Given the description of an element on the screen output the (x, y) to click on. 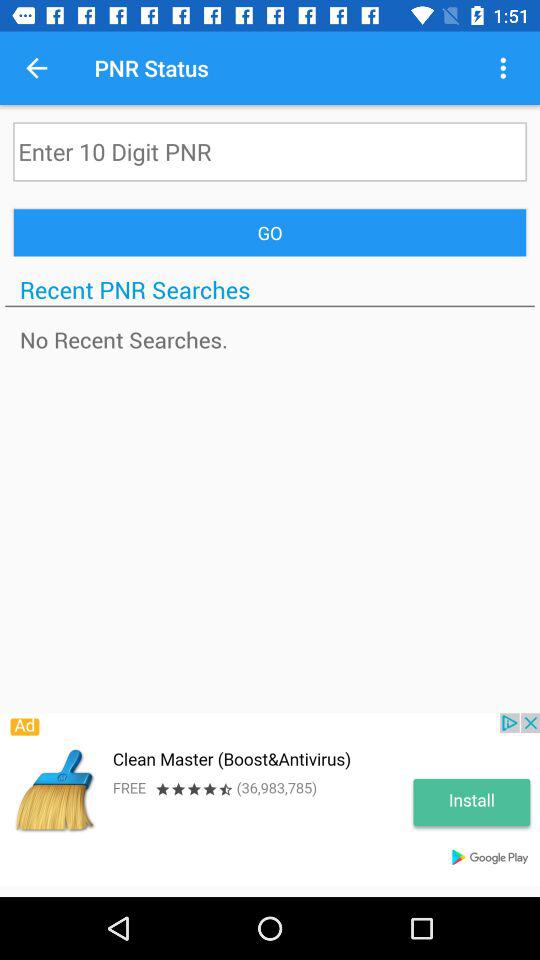
pnr (269, 151)
